Given the description of an element on the screen output the (x, y) to click on. 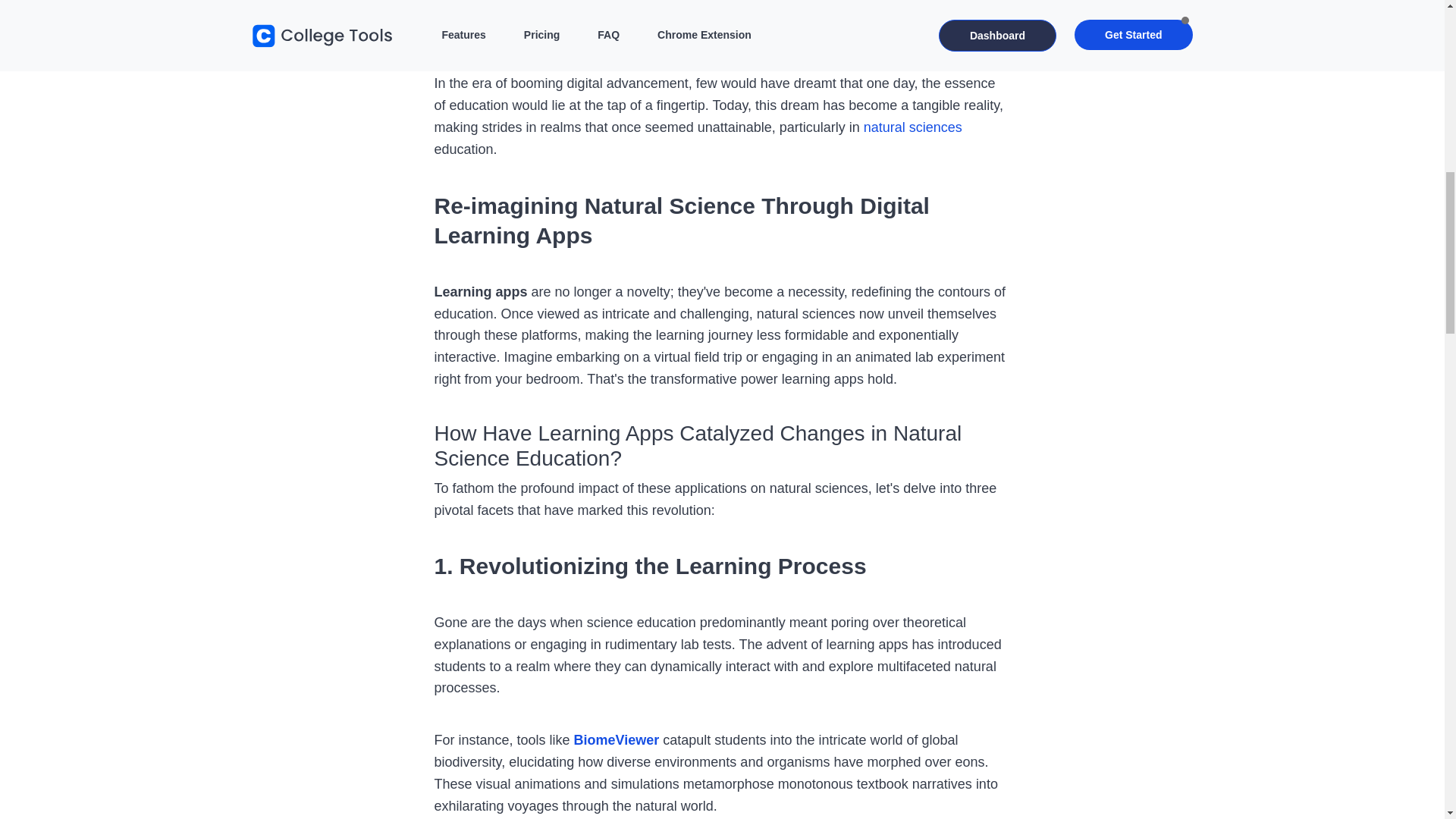
BiomeViewer (616, 739)
Gazing into the Future (537, 2)
natural sciences (912, 127)
